Given the description of an element on the screen output the (x, y) to click on. 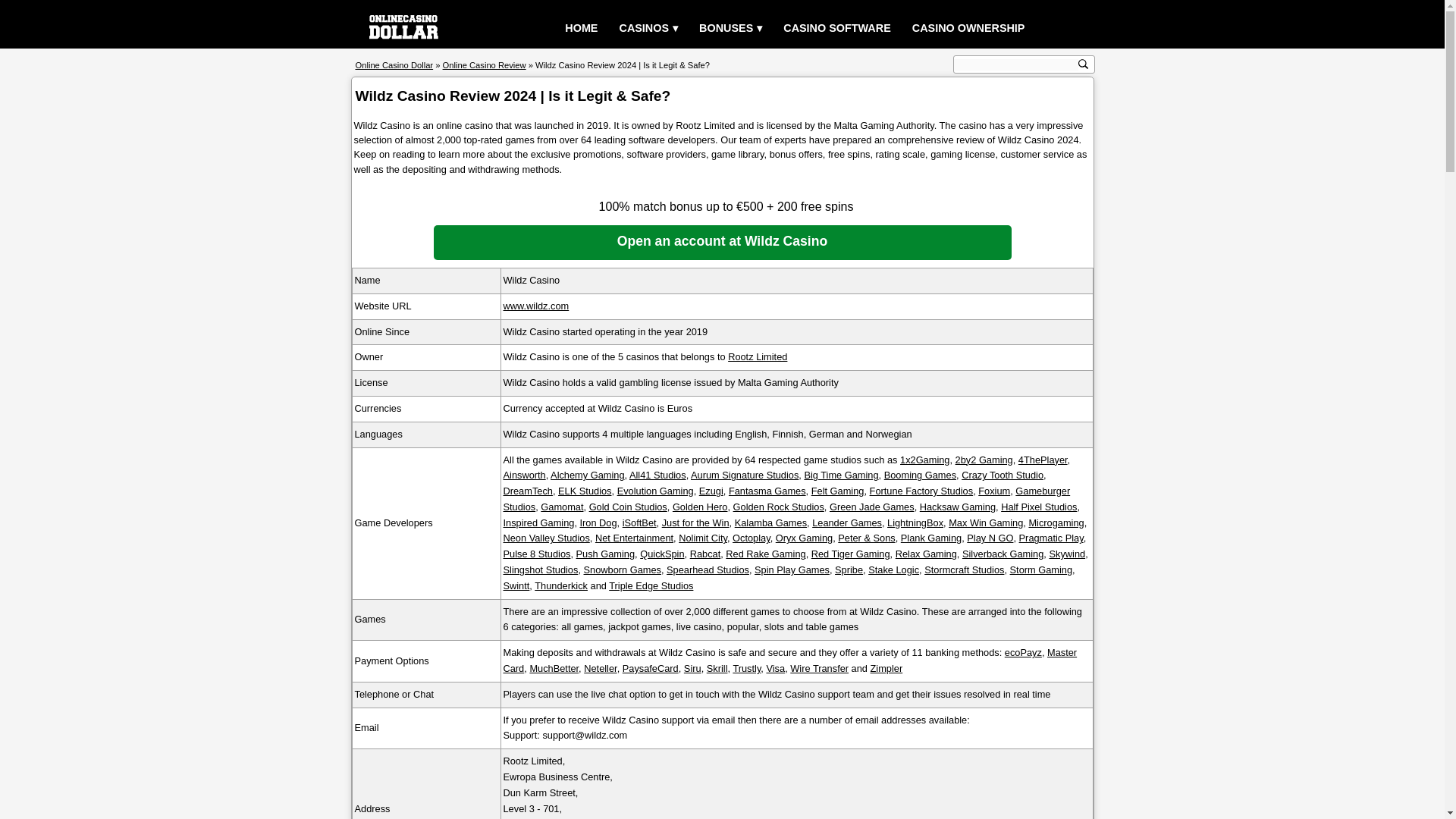
4ThePlayer (1042, 459)
Gameburger Studios (786, 498)
2by2 Gaming (984, 459)
BONUSES (730, 28)
CASINO SOFTWARE (837, 28)
Felt Gaming (837, 490)
Fortune Factory Studios (921, 490)
CASINO OWNERSHIP (968, 28)
Evolution Gaming (655, 490)
www.wildz.com (536, 306)
